Given the description of an element on the screen output the (x, y) to click on. 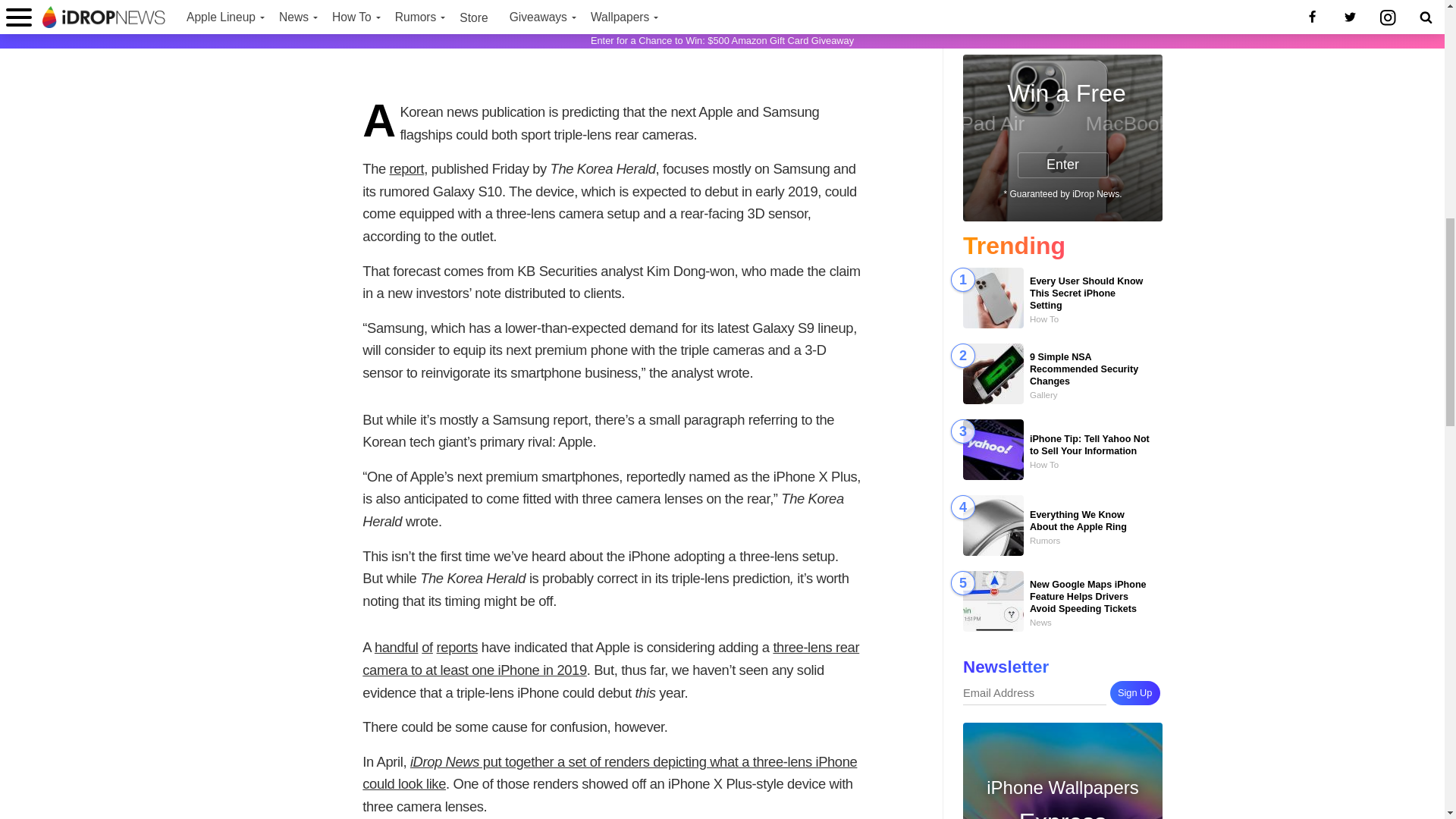
Advertisement (612, 44)
